Given the description of an element on the screen output the (x, y) to click on. 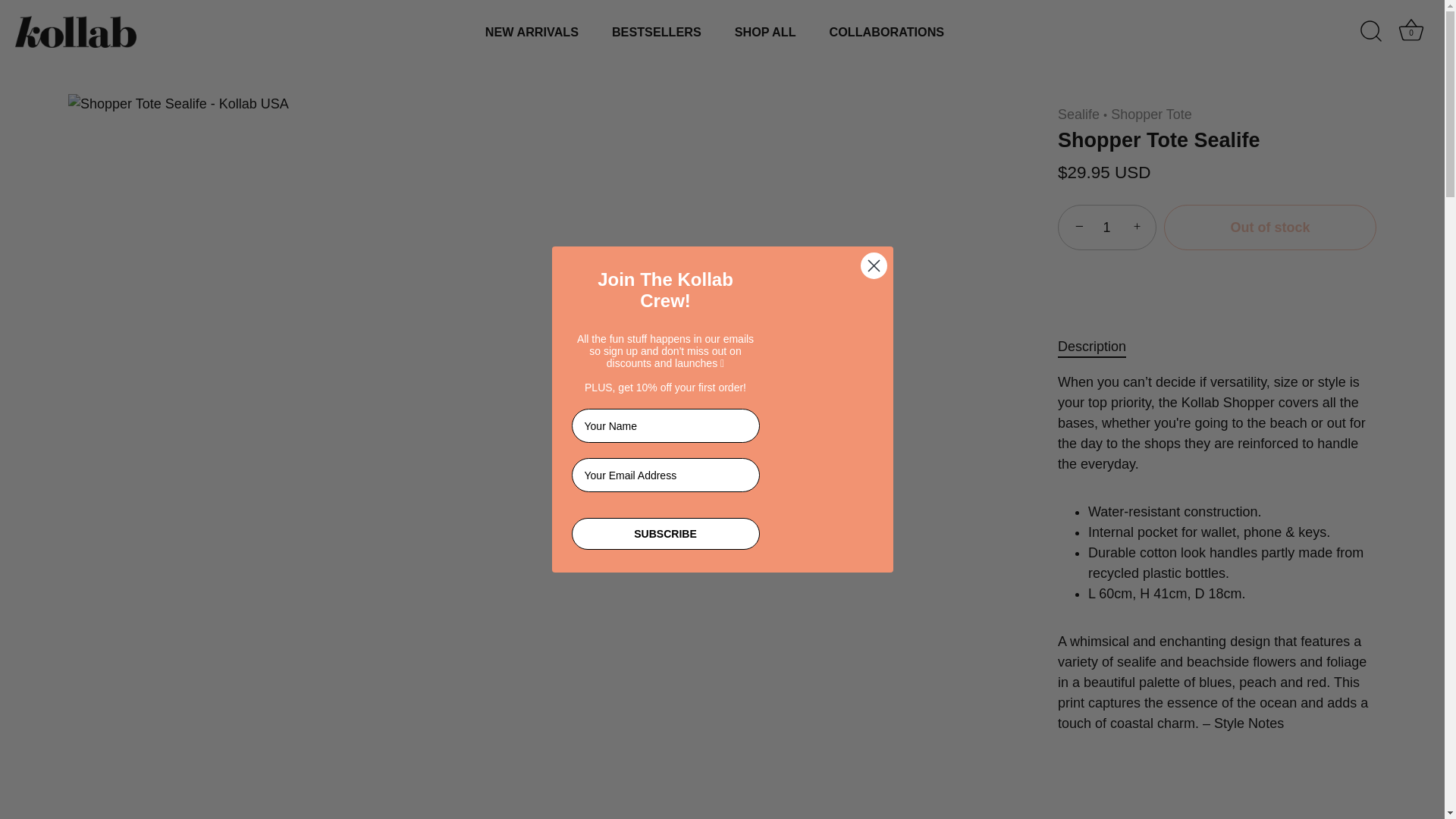
COLLABORATIONS (886, 31)
BESTSELLERS (656, 31)
SHOP ALL (764, 31)
Basket (1410, 30)
NEW ARRIVALS (531, 31)
